Given the description of an element on the screen output the (x, y) to click on. 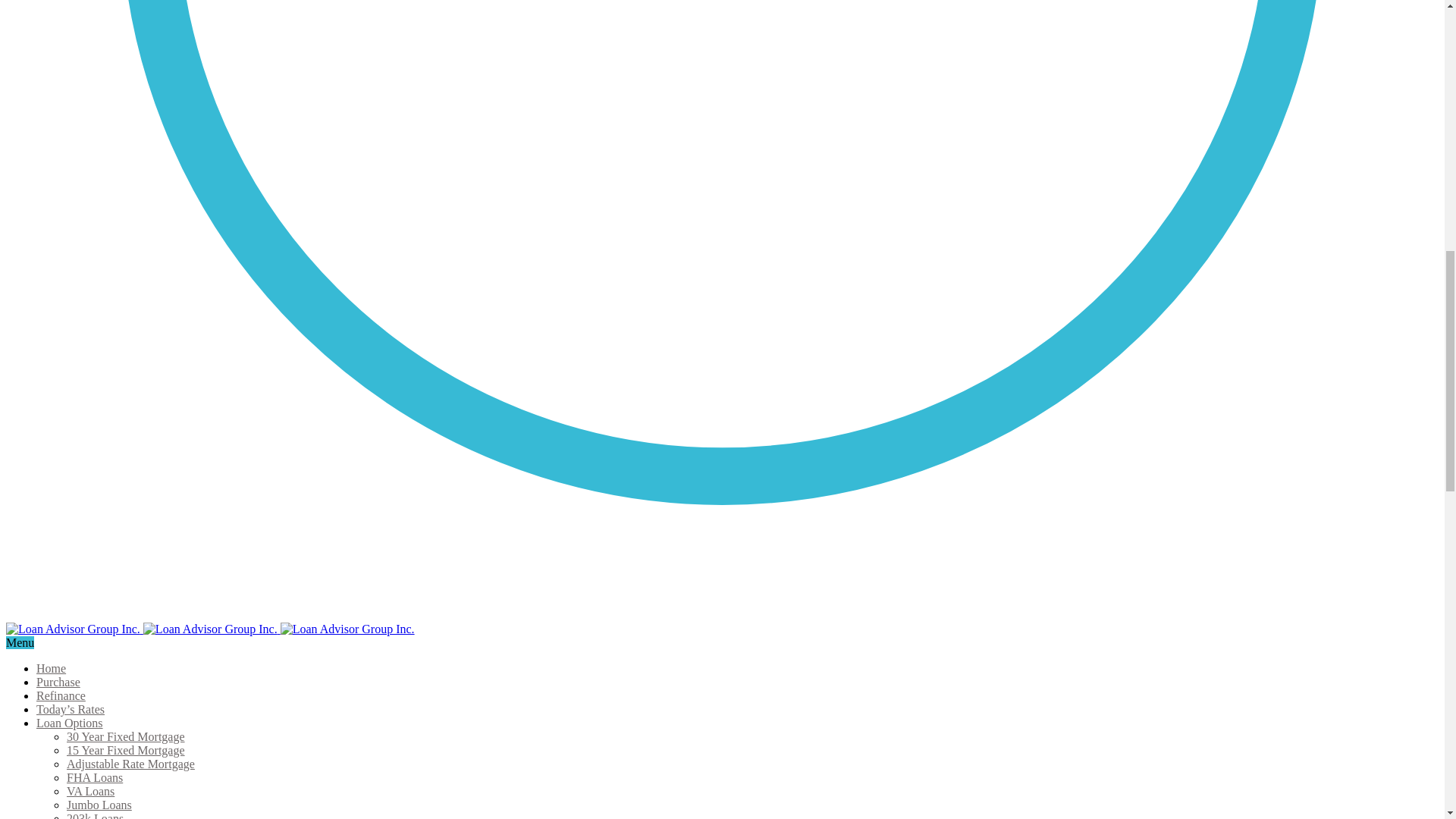
Menu (19, 642)
VA Loans (90, 790)
15 Year Fixed Mortgage (125, 749)
Loan Options (69, 722)
Adjustable Rate Mortgage (130, 763)
Loan Advisor Group Inc.  (72, 629)
Refinance (60, 695)
Today's Rates (70, 708)
Home (50, 667)
Adjustable Rate Mortgage (130, 763)
